Given the description of an element on the screen output the (x, y) to click on. 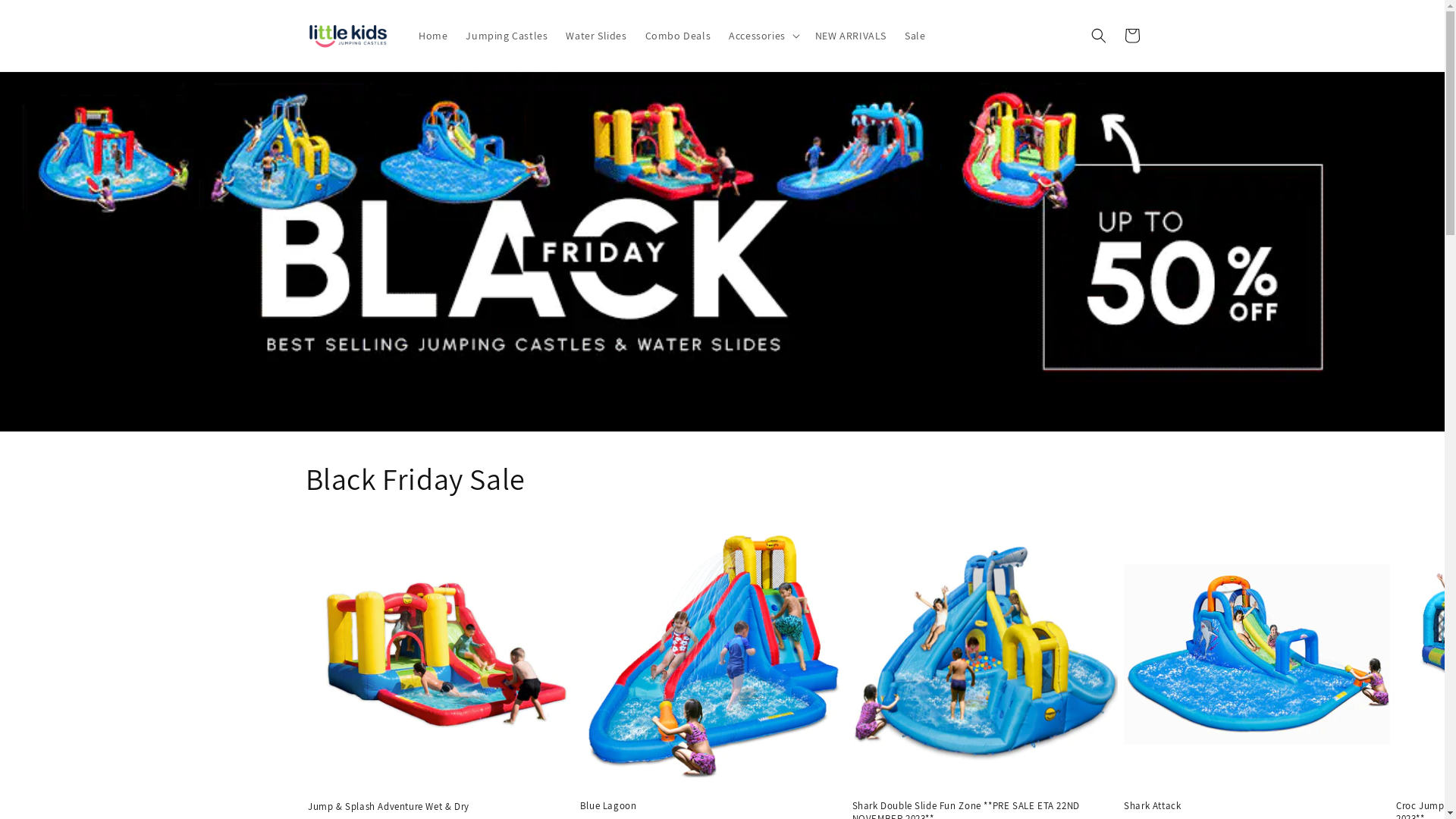
NEW ARRIVALS Element type: text (850, 35)
Cart Element type: text (1131, 35)
Jump & Splash Adventure Wet & Dry Element type: text (440, 806)
Blue Lagoon Element type: text (713, 806)
Jumping Castles Element type: text (506, 35)
Combo Deals Element type: text (678, 35)
Sale Element type: text (914, 35)
Water Slides Element type: text (595, 35)
Home Element type: text (432, 35)
Shark Attack Element type: text (1256, 806)
